Given the description of an element on the screen output the (x, y) to click on. 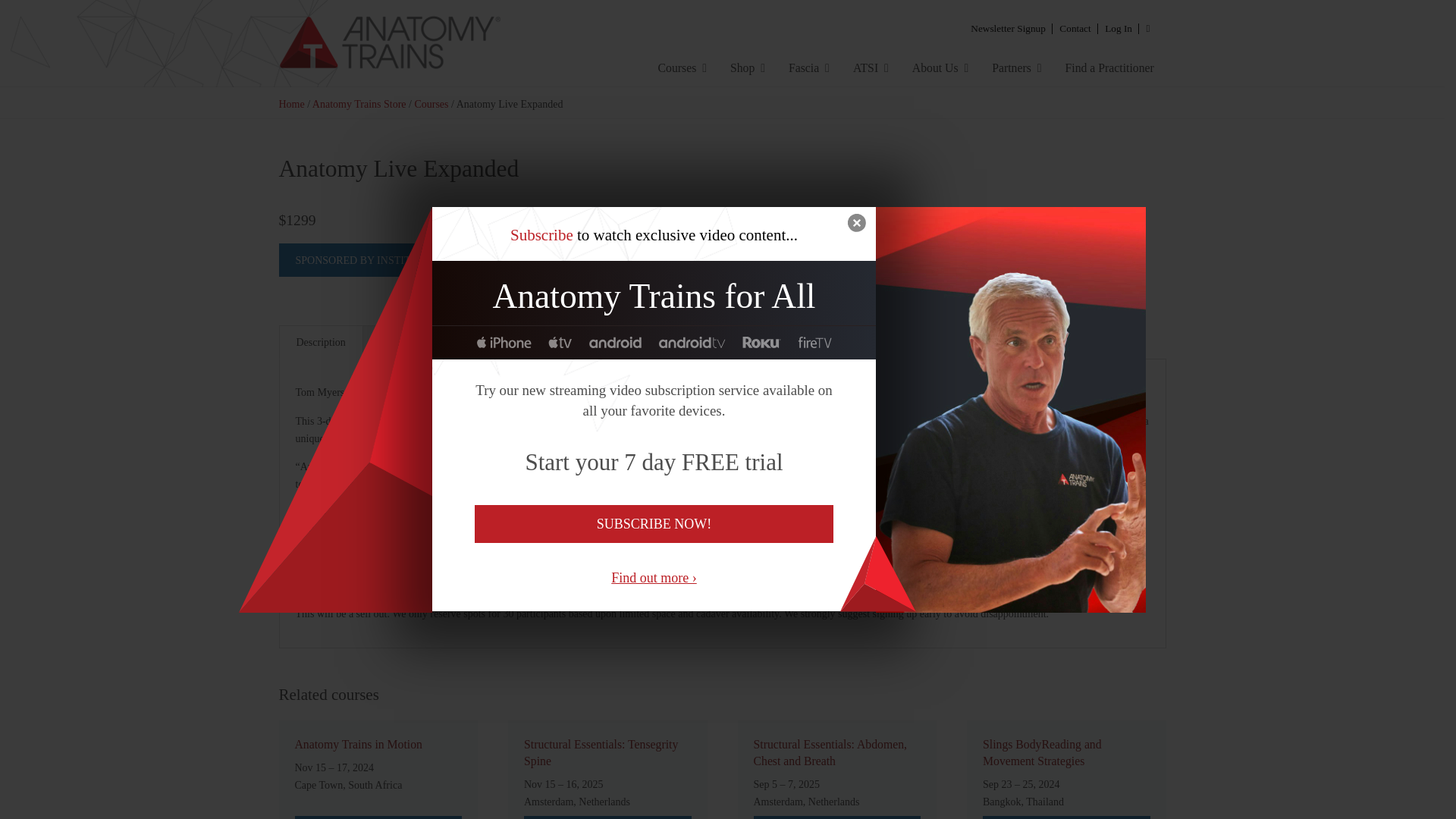
ATSI (870, 67)
Log In (1117, 27)
View your shopping cart (1147, 27)
Contact (1074, 27)
Newsletter Signup (1007, 27)
Fascia (808, 67)
Anatomy Trains (428, 43)
Courses (682, 67)
SUBSCRIBE NOW! (653, 523)
Newsletter Signup (1007, 27)
Shop (747, 67)
Log In (1117, 27)
Courses (682, 67)
Contact Us (1074, 27)
